Given the description of an element on the screen output the (x, y) to click on. 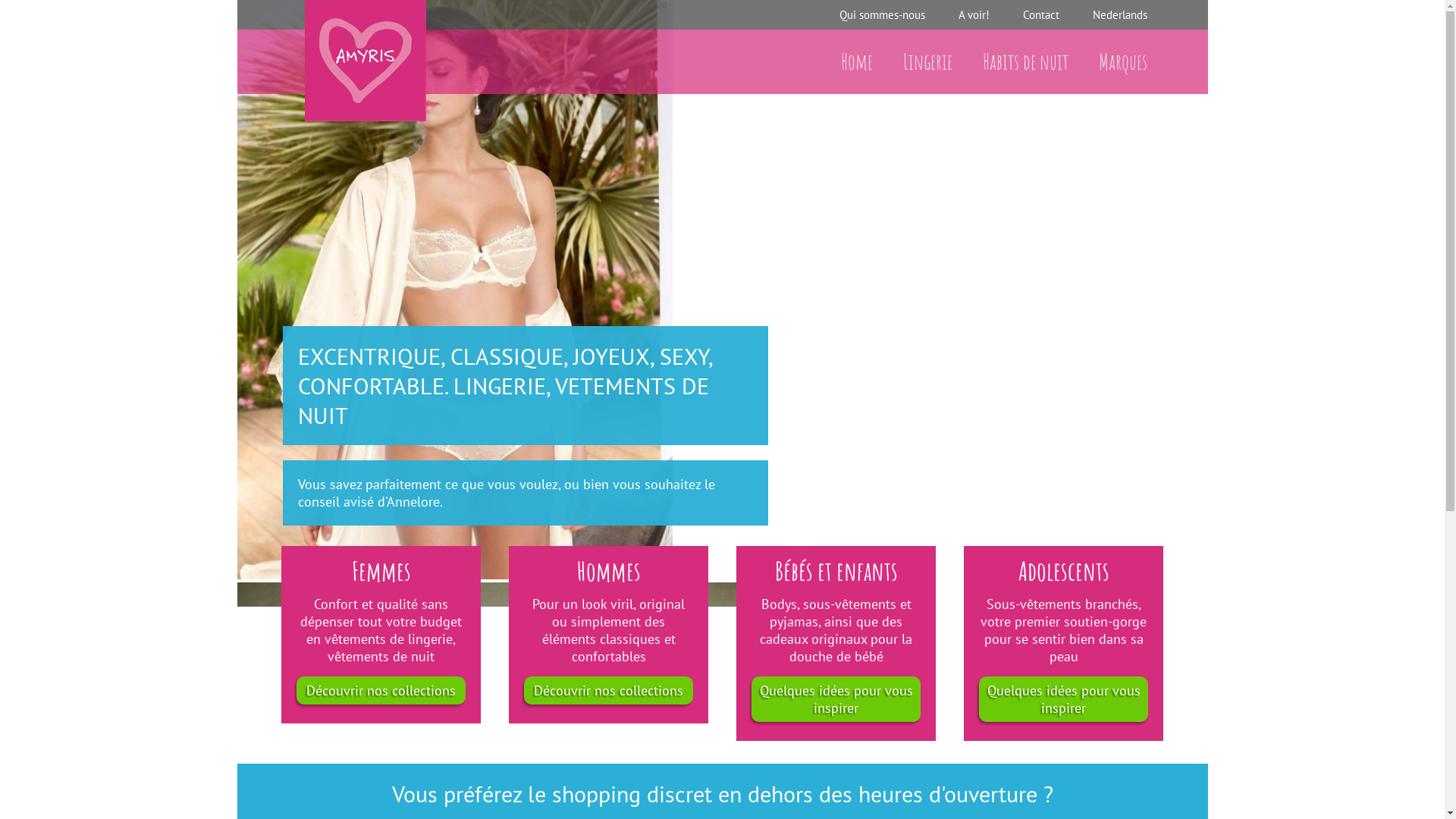
Nederlands Element type: text (1118, 14)
A voir! Element type: text (973, 14)
Qui sommes-nous Element type: text (881, 14)
Contact Element type: text (1040, 14)
Home Element type: text (856, 61)
Marques Element type: text (1121, 61)
Lingerie Element type: text (926, 61)
Habits de nuit Element type: text (1025, 61)
